Given the description of an element on the screen output the (x, y) to click on. 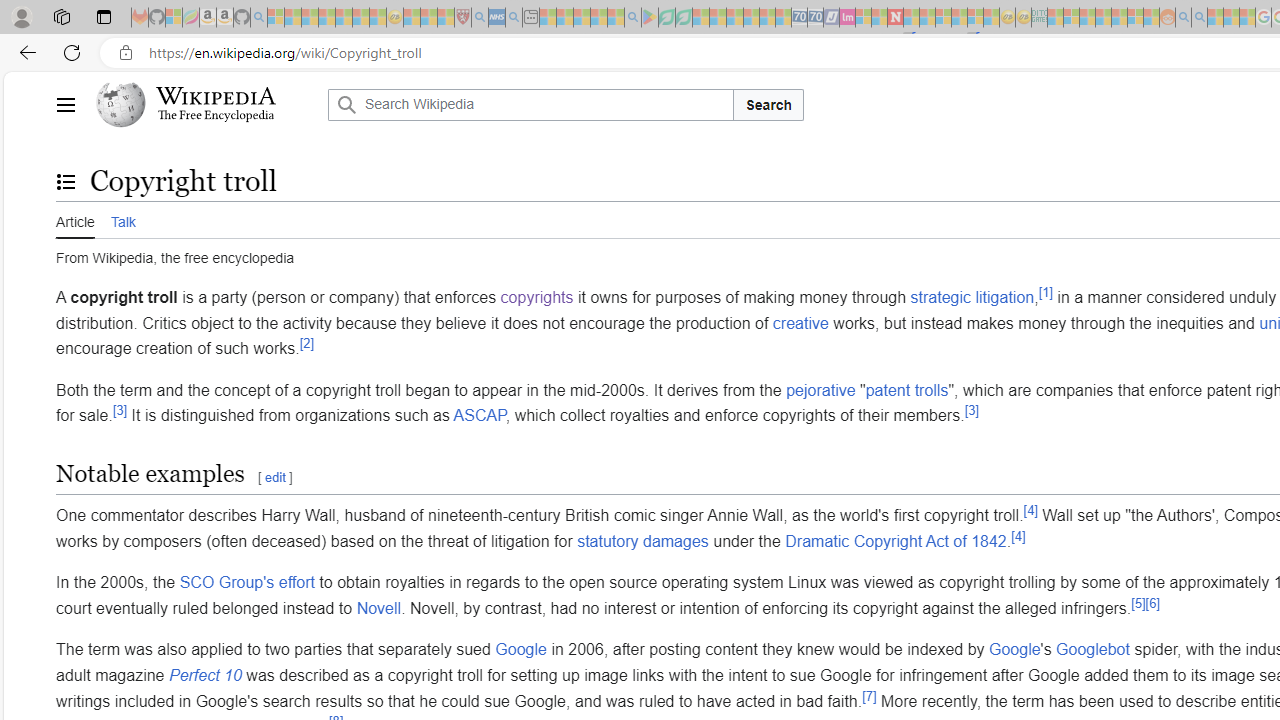
Talk (122, 219)
